Given the description of an element on the screen output the (x, y) to click on. 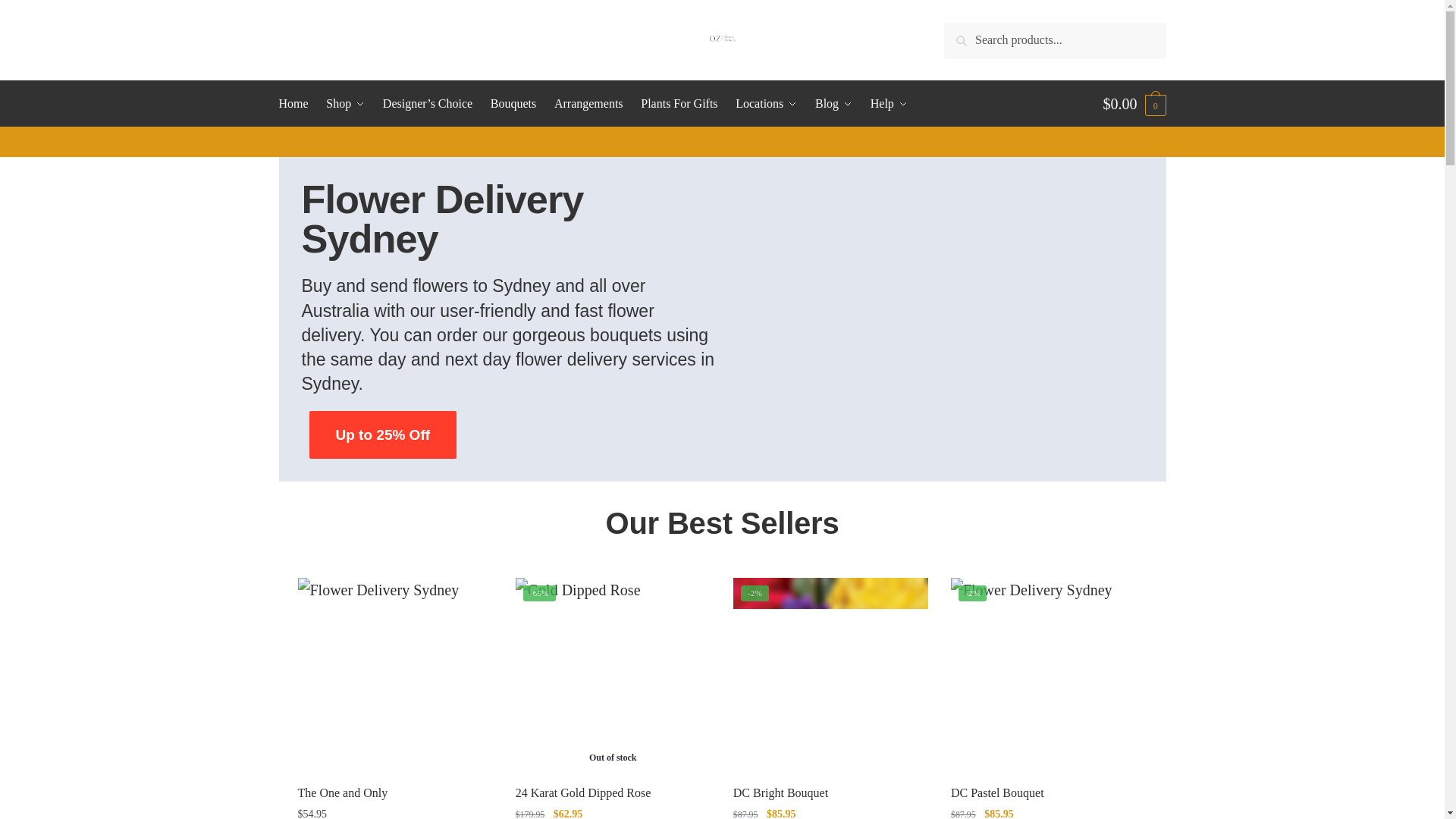
24 Karat Gold Dipped Rose (612, 675)
Shop (344, 103)
Search (968, 35)
The One and Only (394, 675)
View your shopping cart (1134, 103)
